Given the description of an element on the screen output the (x, y) to click on. 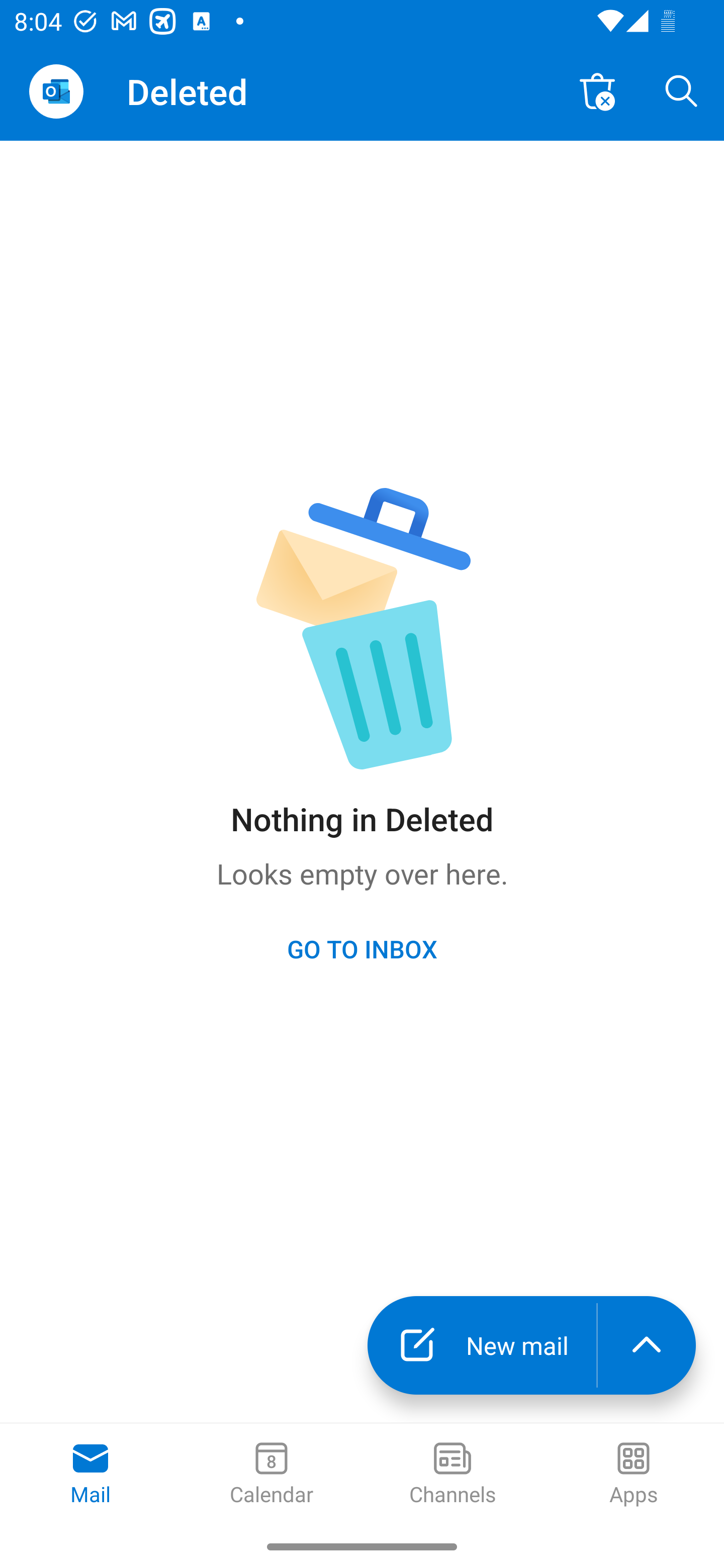
Empty Deleted (597, 90)
Search, ,  (681, 90)
Open Navigation Drawer (55, 91)
GO TO INBOX (362, 948)
New mail (481, 1344)
launch the extended action menu (646, 1344)
Calendar (271, 1474)
Channels (452, 1474)
Apps (633, 1474)
